Given the description of an element on the screen output the (x, y) to click on. 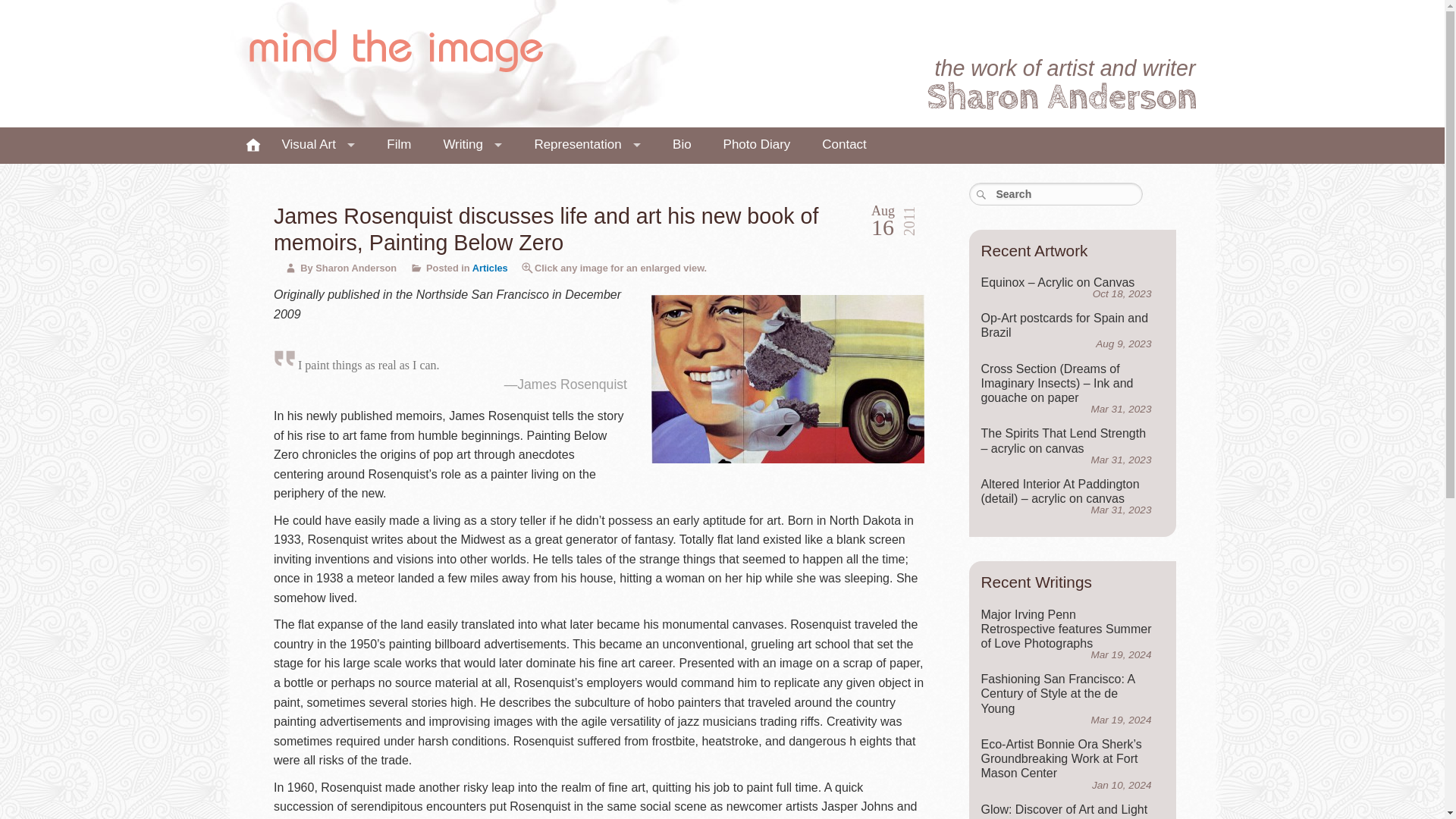
Skip to content (247, 149)
Writing (472, 144)
Representation (587, 144)
Film (1066, 329)
Home (398, 144)
Photo Diary (245, 145)
Skip to content (756, 144)
Visual Art (247, 149)
Mind the Image (317, 144)
Mind the Image (394, 49)
Bio (394, 49)
